Given the description of an element on the screen output the (x, y) to click on. 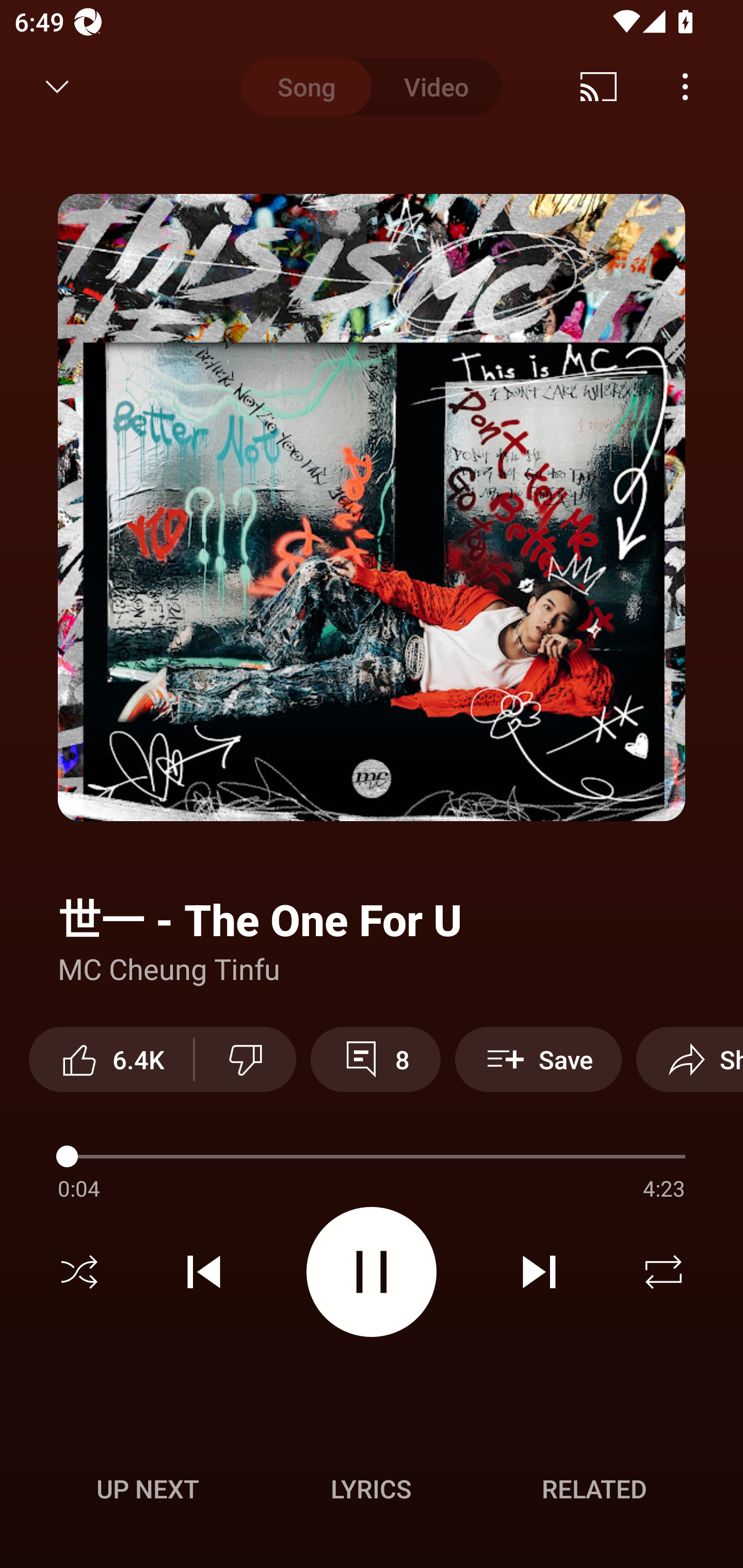
Minimize (57, 86)
Cast. Disconnected (598, 86)
Menu (684, 86)
6.4K like this video along with 6,475 other people (110, 1059)
Dislike (245, 1059)
8 View 8 comments (375, 1059)
Save Save to playlist (537, 1059)
Share (689, 1059)
Pause video (371, 1272)
Shuffle off (79, 1272)
Previous track (203, 1272)
Next track (538, 1272)
Repeat off (663, 1272)
Up next UP NEXT Lyrics LYRICS Related RELATED (371, 1491)
Lyrics LYRICS (370, 1488)
Related RELATED (594, 1488)
